Given the description of an element on the screen output the (x, y) to click on. 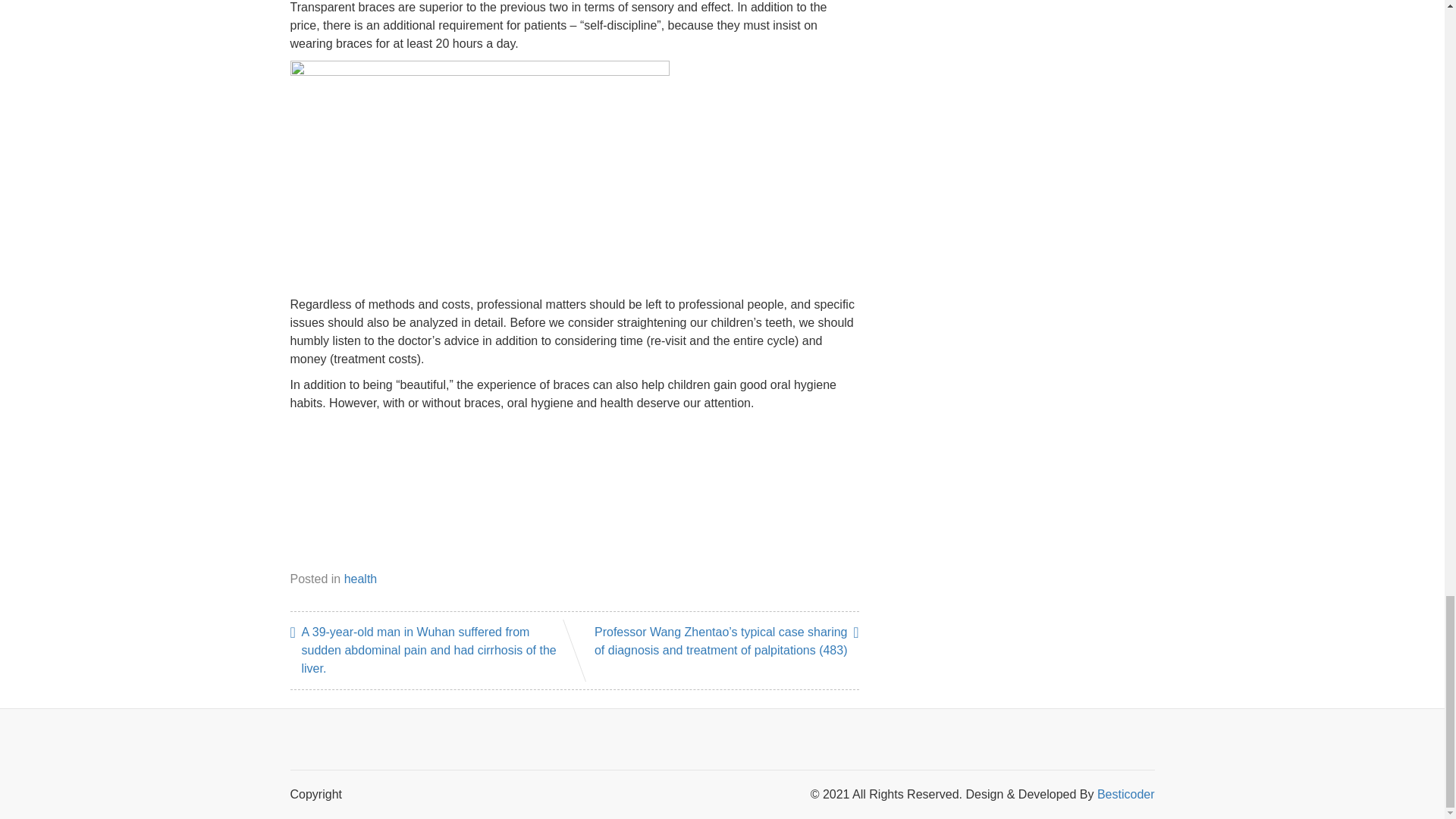
health (360, 578)
Besticoder (1125, 793)
